Given the description of an element on the screen output the (x, y) to click on. 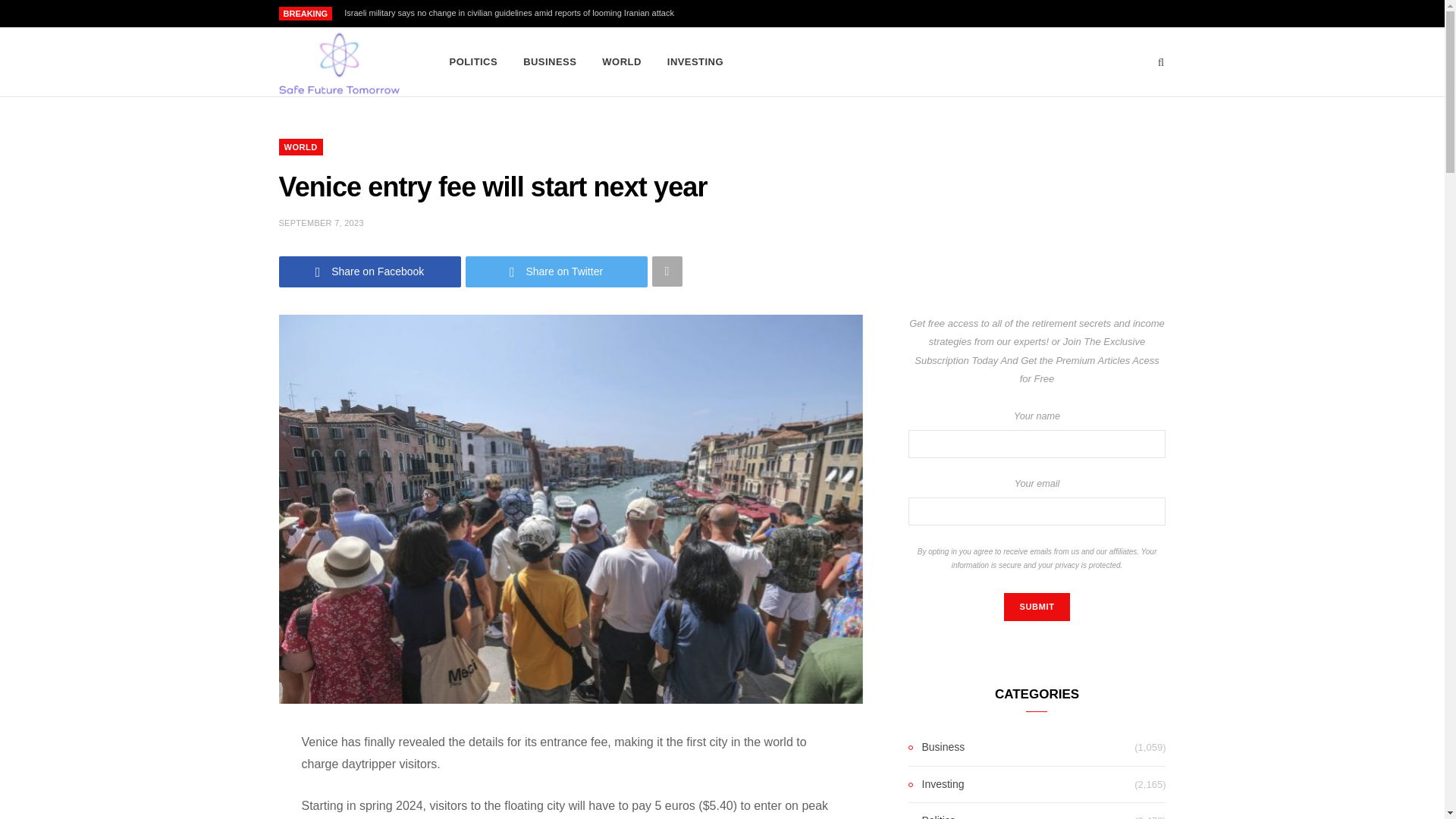
INVESTING (695, 61)
Share on Facebook (370, 271)
Safe Future Tomorrow (338, 61)
SEPTEMBER 7, 2023 (321, 222)
Share on Facebook (370, 271)
Submit (1036, 606)
WORLD (301, 146)
BUSINESS (550, 61)
WORLD (621, 61)
Share on Twitter (556, 271)
